Given the description of an element on the screen output the (x, y) to click on. 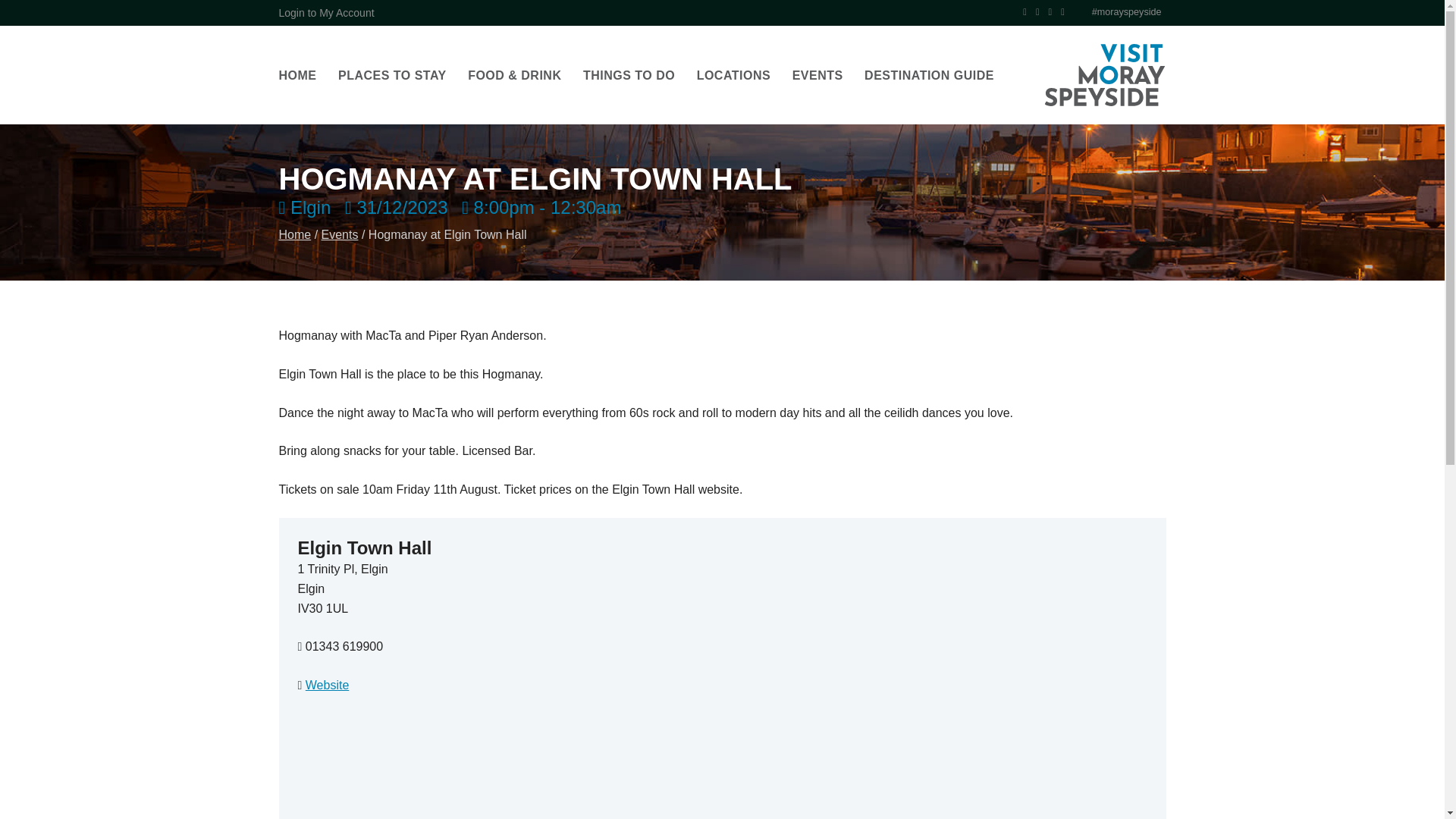
Login to My Account (326, 12)
EVENTS (817, 75)
Open our Destination Guide (929, 75)
LOCATIONS (734, 75)
DESTINATION GUIDE (929, 75)
Visit Moray Speyside (1104, 75)
Home (295, 234)
Website (327, 684)
Events (339, 234)
HOME (298, 75)
